Given the description of an element on the screen output the (x, y) to click on. 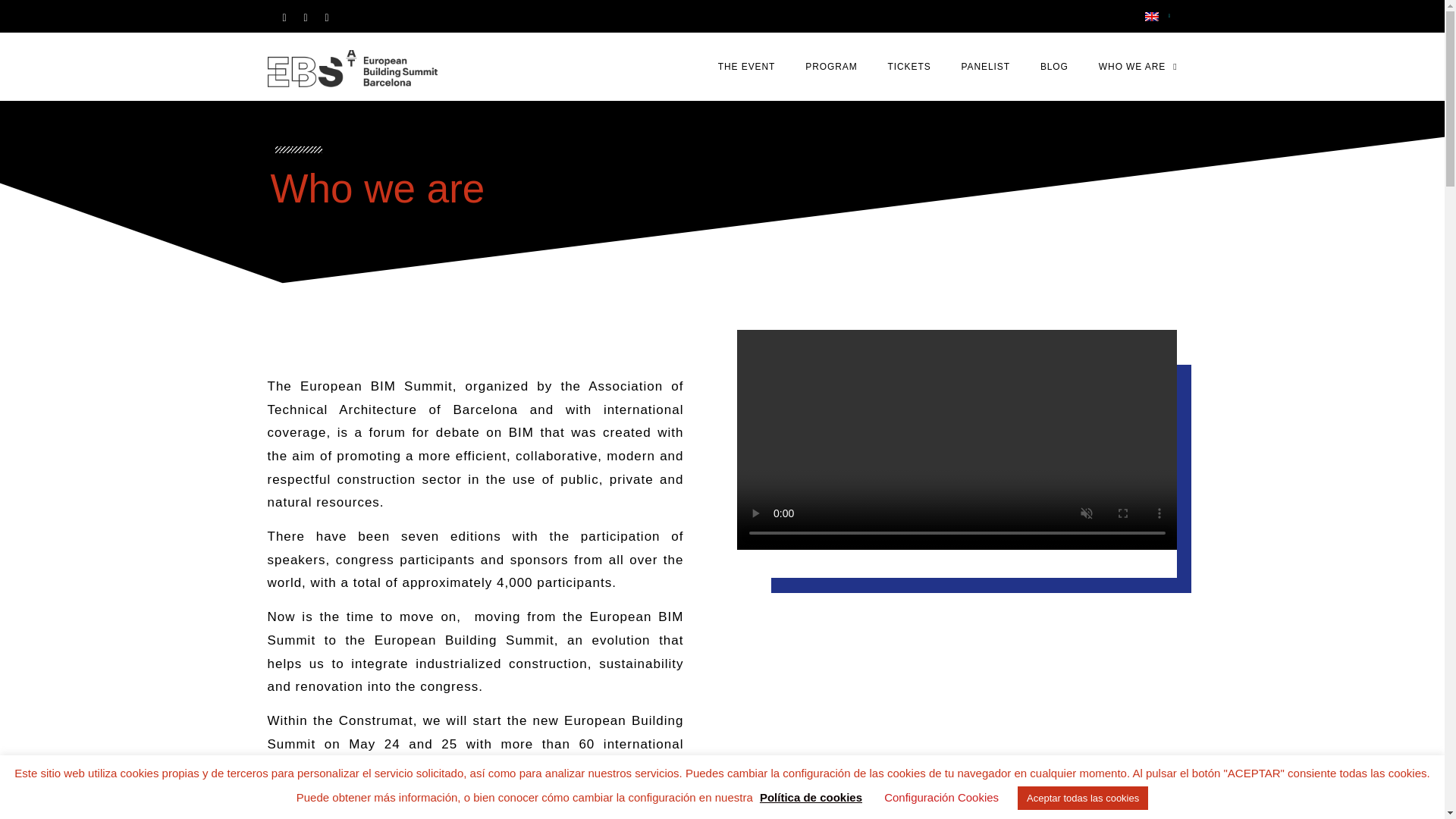
BLOG (1054, 66)
THE EVENT (745, 66)
PROGRAM (831, 66)
PANELIST (985, 66)
WHO WE ARE (1138, 66)
TICKETS (909, 66)
